Given the description of an element on the screen output the (x, y) to click on. 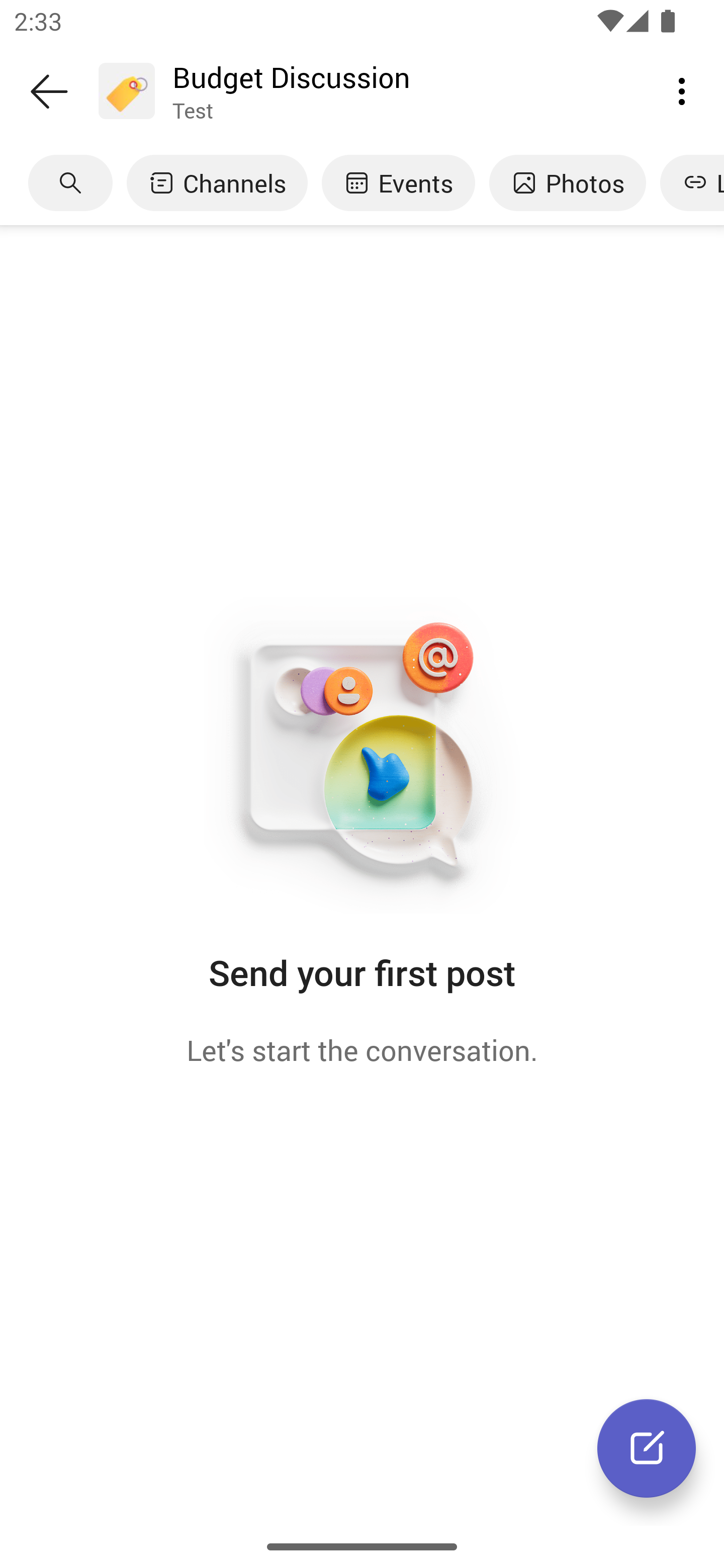
Back (49, 91)
More options (681, 90)
Search tab, 1 of 6 (70, 183)
Channels tab, 2 of 6 Channels (216, 183)
Events tab, 3 of 6 Events (397, 183)
Photos tab, 4 of 6 Photos (567, 183)
New conversation (646, 1447)
